Given the description of an element on the screen output the (x, y) to click on. 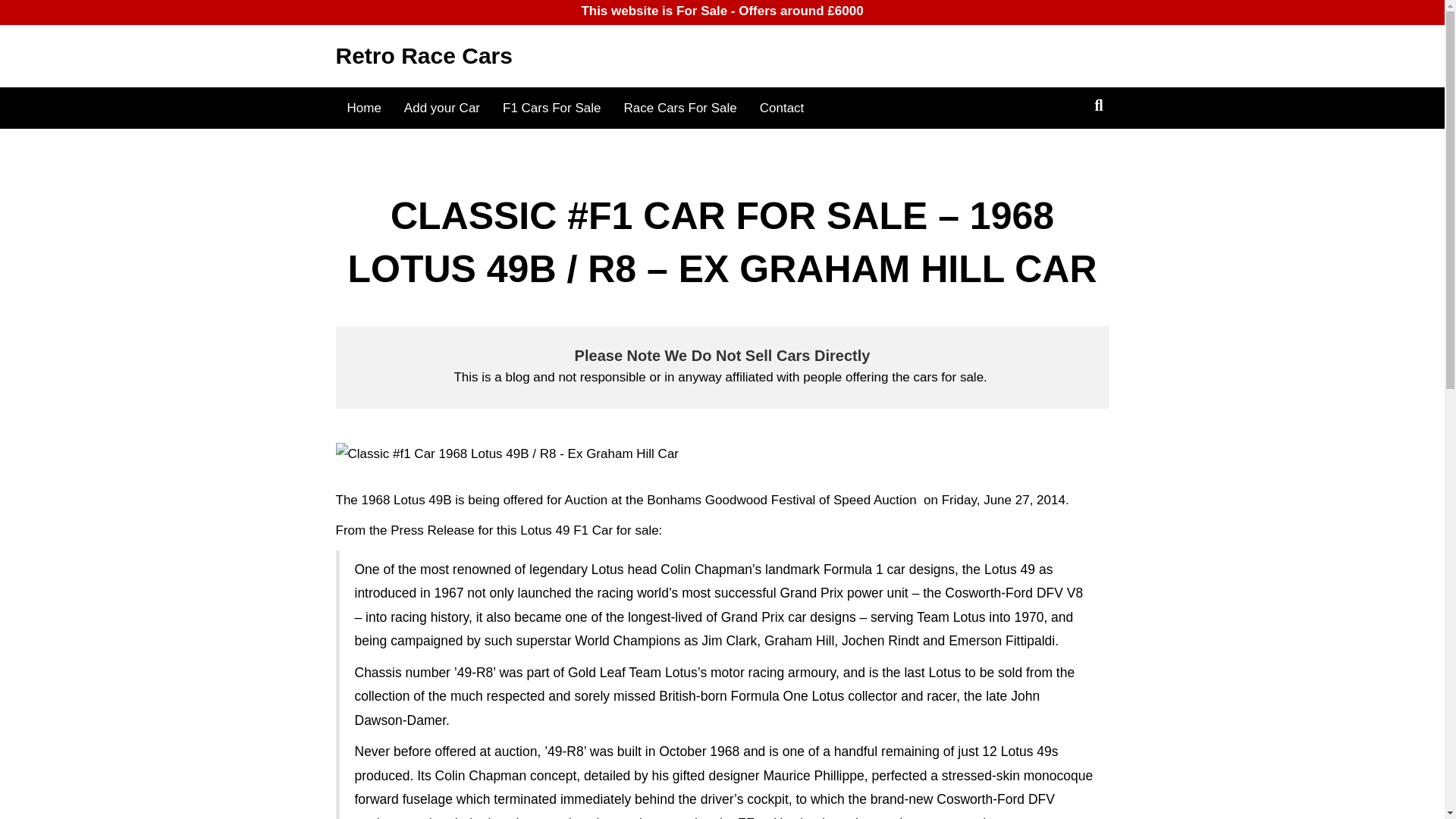
Race Cars For Sale (679, 107)
Retro Race Cars (516, 56)
Add your Car (442, 107)
Home (362, 107)
F1 Cars For Sale (551, 107)
Contact (781, 107)
